Given the description of an element on the screen output the (x, y) to click on. 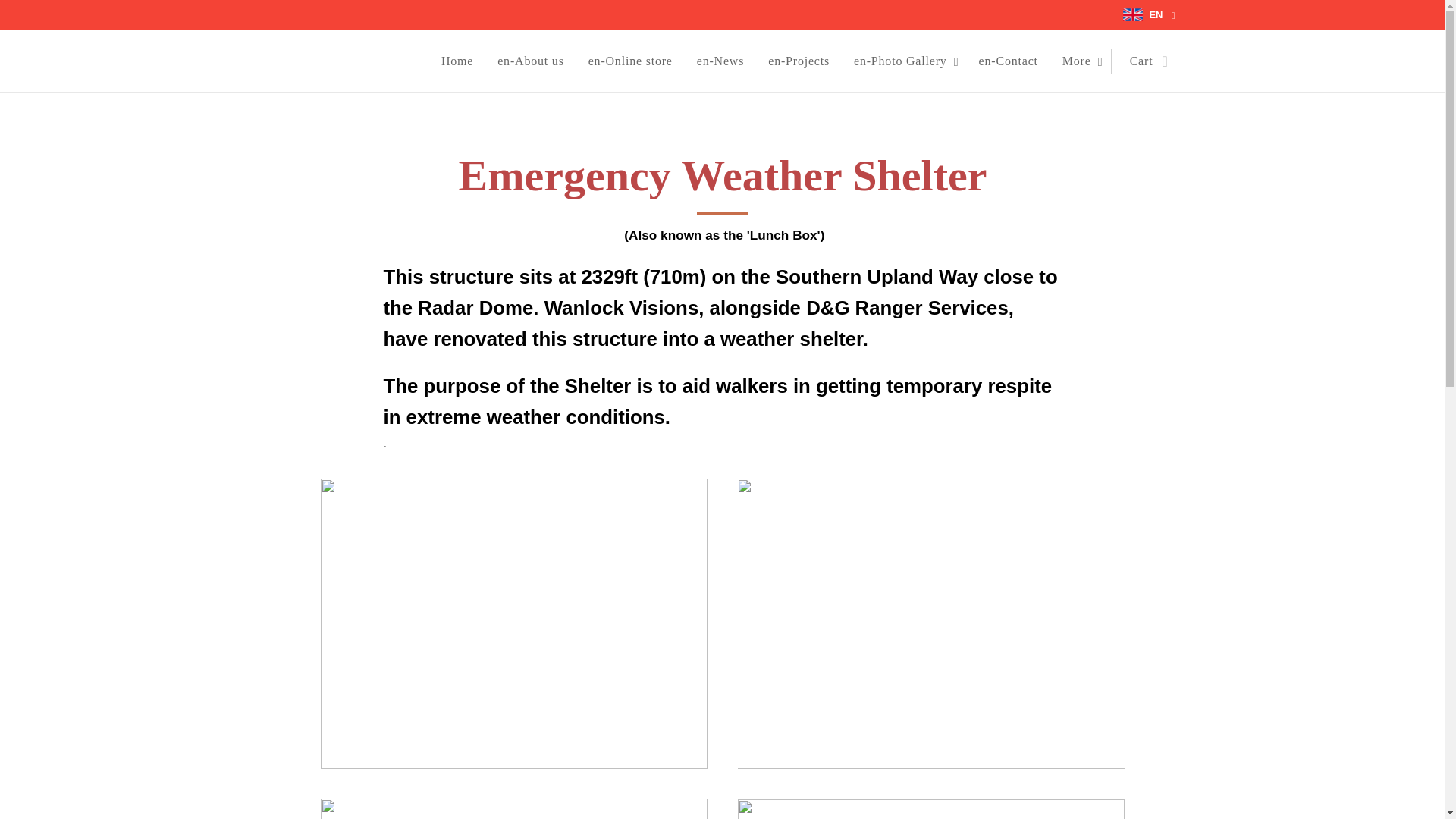
Home (461, 61)
en-News (719, 61)
en-About us (529, 61)
en-Contact (1007, 61)
More (1079, 61)
en-Projects (798, 61)
en-Photo Gallery (903, 61)
Cart (1143, 61)
en-Online store (630, 61)
